Given the description of an element on the screen output the (x, y) to click on. 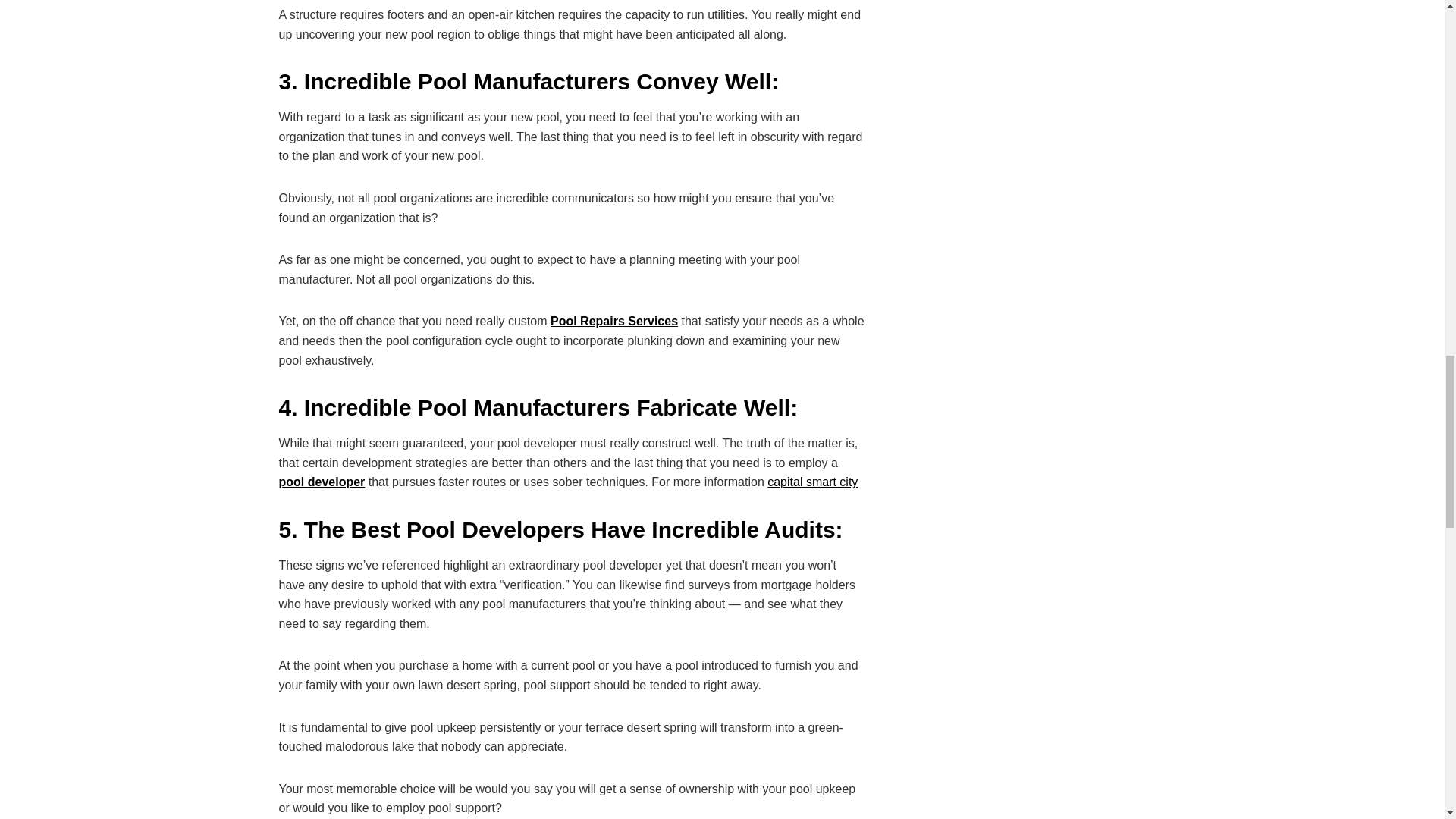
Pool Repairs Services (614, 320)
capital smart city (812, 481)
pool developer (322, 481)
